Given the description of an element on the screen output the (x, y) to click on. 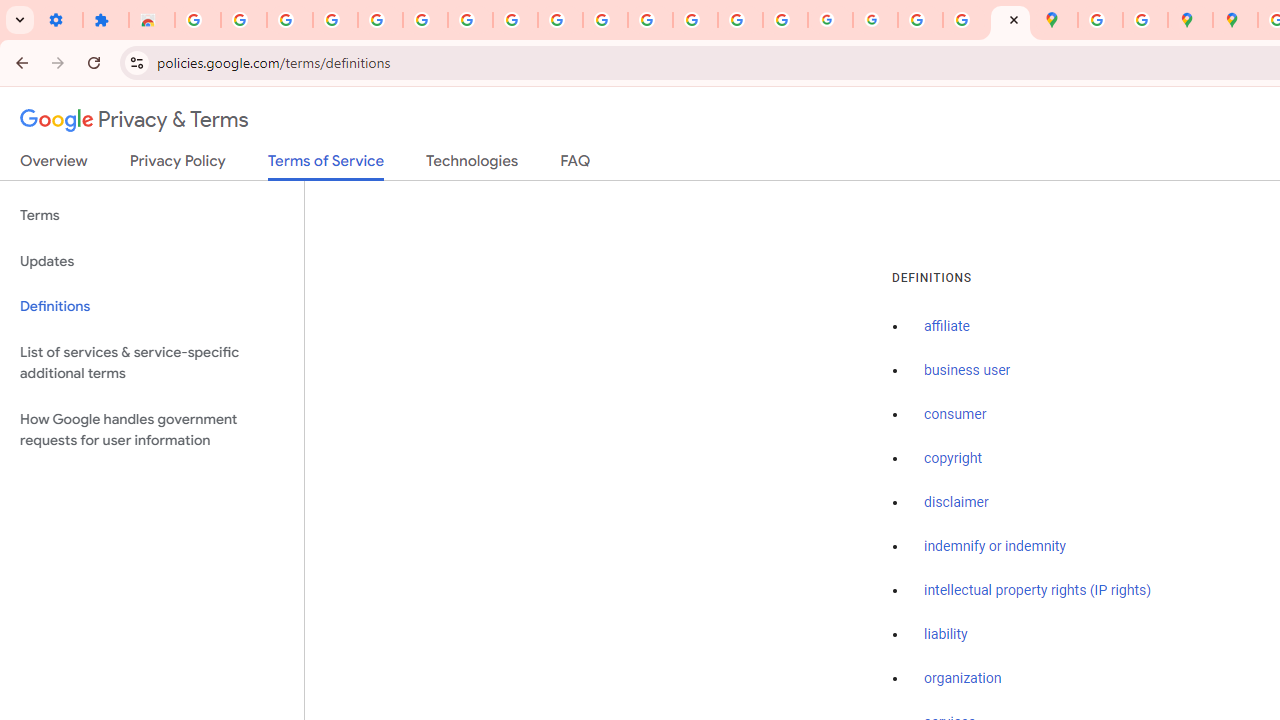
Google Maps (1055, 20)
disclaimer (956, 502)
How Google handles government requests for user information (152, 429)
indemnify or indemnity (995, 546)
Sign in - Google Accounts (198, 20)
intellectual property rights (IP rights) (1038, 590)
Sign in - Google Accounts (425, 20)
https://scholar.google.com/ (650, 20)
